Given the description of an element on the screen output the (x, y) to click on. 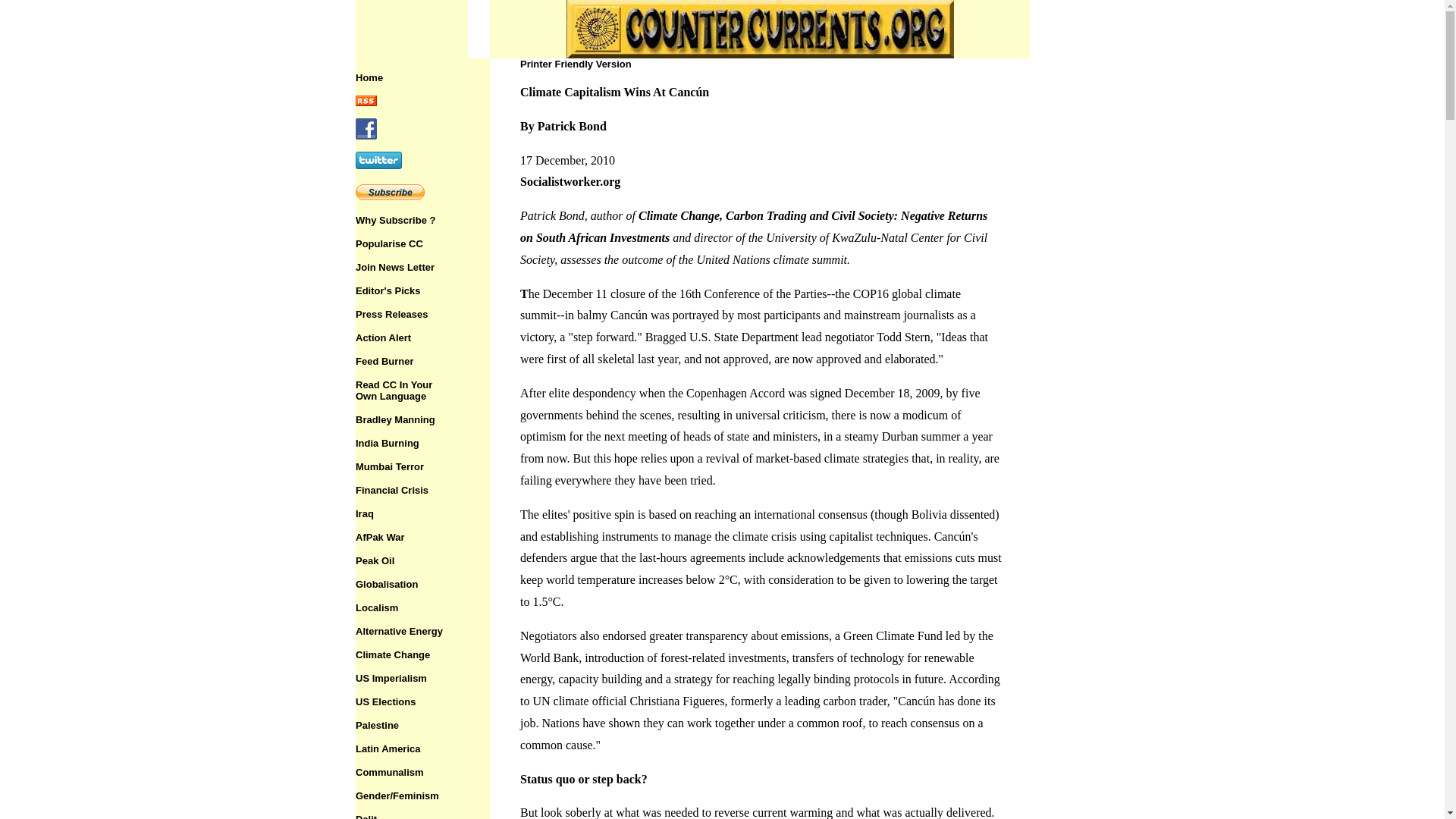
Home (368, 77)
Alternative Energy (398, 631)
Popularise CC (389, 243)
US Imperialism (390, 677)
Feed Burner (384, 360)
Climate Change (392, 654)
Why Subscribe ? (393, 390)
Dalit (395, 220)
Communalism (366, 816)
Mumbai Terror (389, 772)
Join News Letter (389, 466)
Action Alert (394, 266)
AfPak War (382, 337)
Bradley Manning (379, 536)
